Given the description of an element on the screen output the (x, y) to click on. 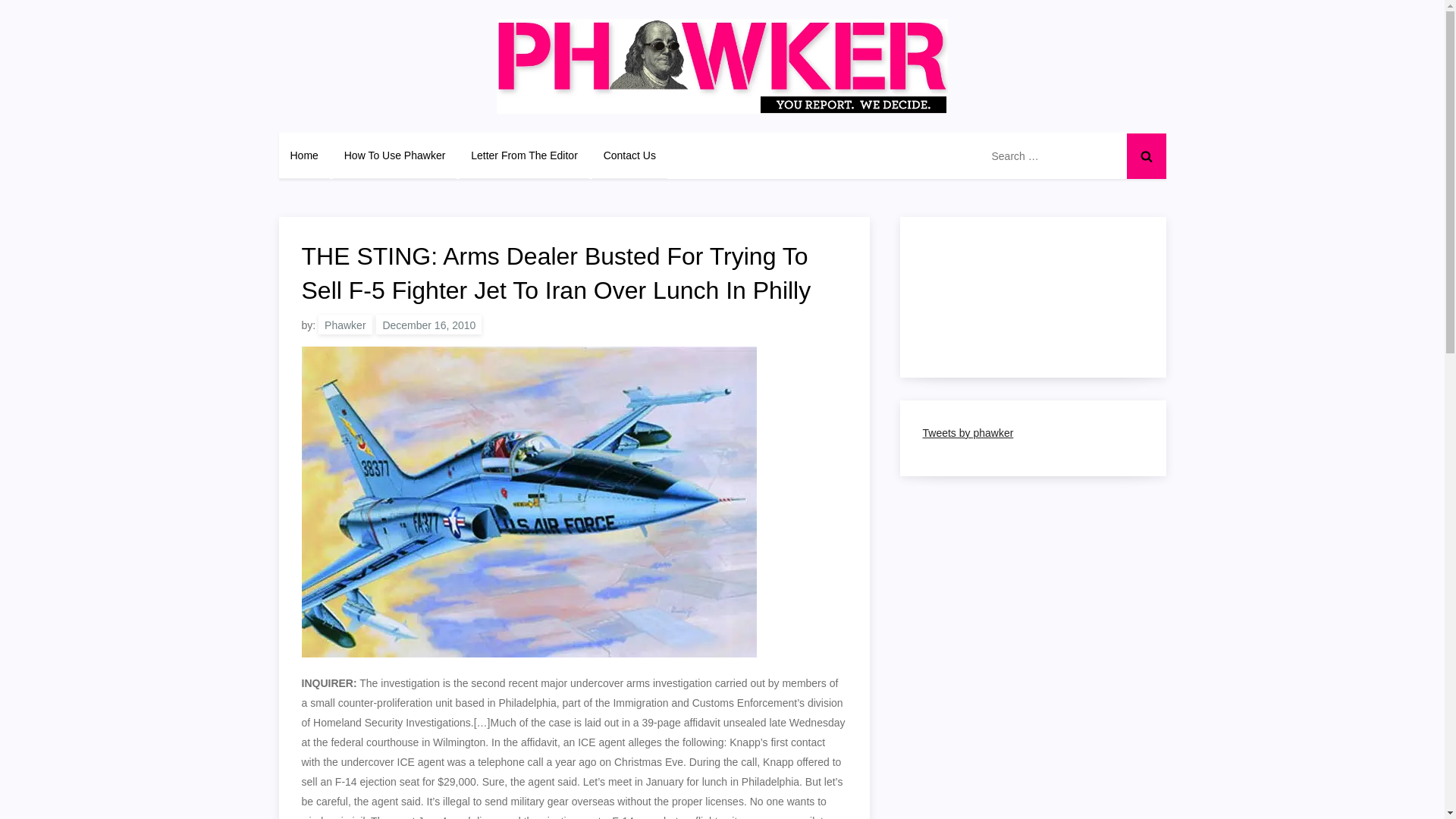
How To Use Phawker (395, 155)
Home (304, 155)
December 16, 2010 (428, 324)
Phawker (344, 324)
Letter From The Editor (524, 155)
Tweets by phawker (967, 432)
Contact Us (629, 155)
